Given the description of an element on the screen output the (x, y) to click on. 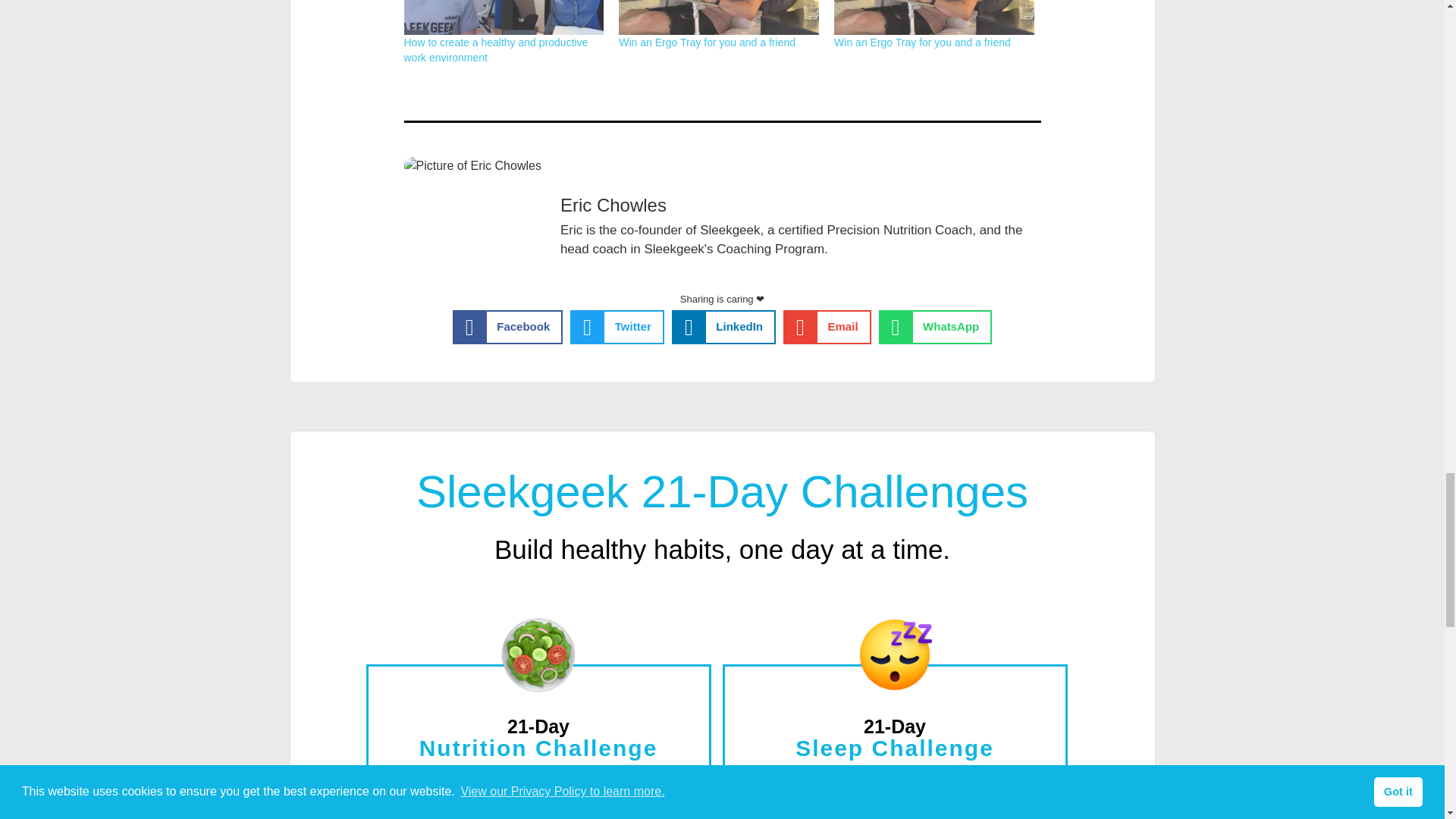
How to create a healthy and productive work environment (503, 17)
Win an Ergo Tray for you and a friend (718, 17)
Win an Ergo Tray for you and a friend (706, 42)
How to create a healthy and productive work environment (495, 49)
Win an Ergo Tray for you and a friend (933, 17)
Win an Ergo Tray for you and a friend (922, 42)
